Given the description of an element on the screen output the (x, y) to click on. 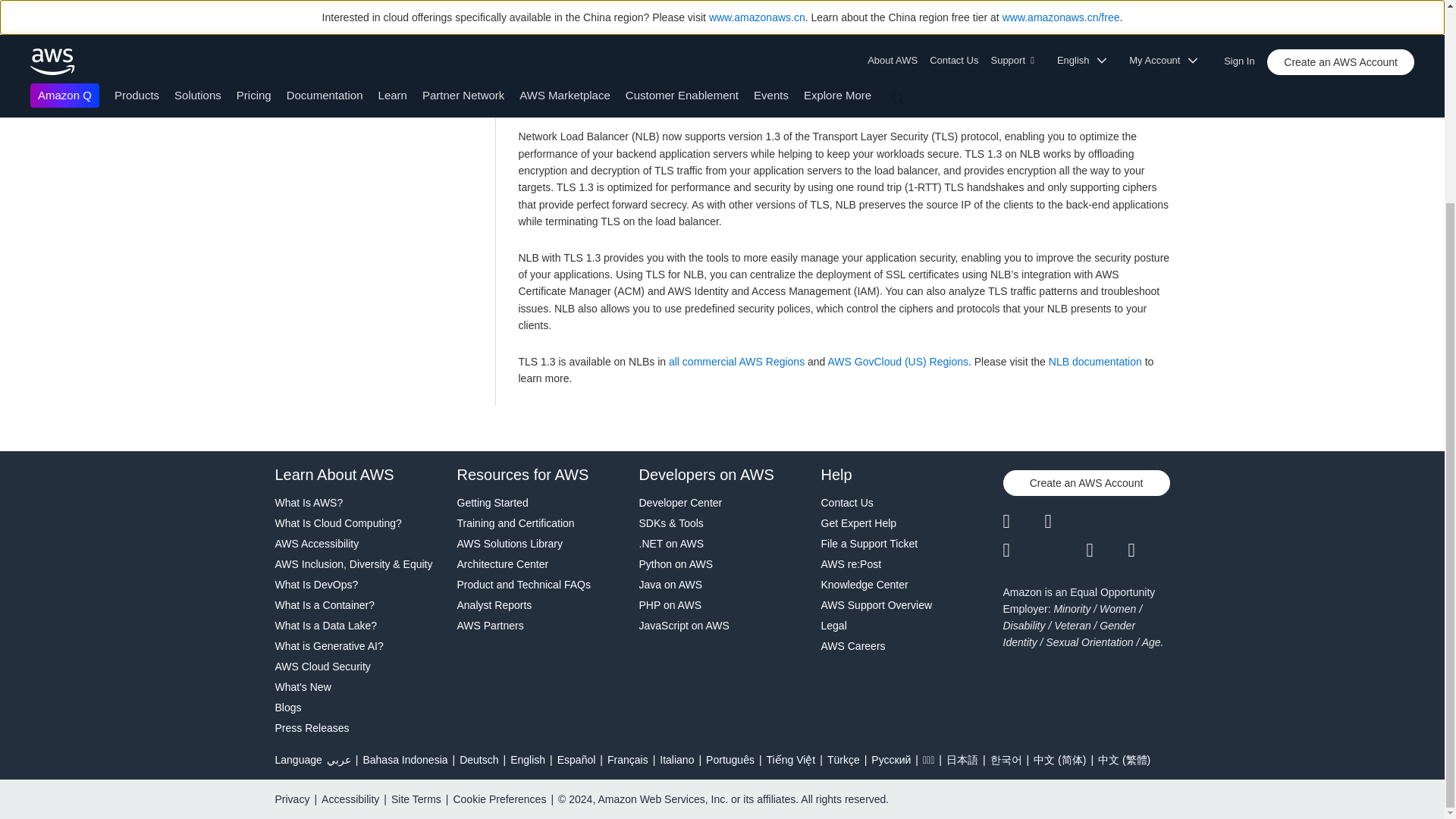
Instagram (1149, 521)
Linkedin (1106, 521)
Facebook (1065, 521)
Press Releases (358, 727)
Podcast (1106, 550)
YouTube (1065, 550)
Twitch (1023, 550)
Twitter (1023, 521)
Email (1149, 550)
